Given the description of an element on the screen output the (x, y) to click on. 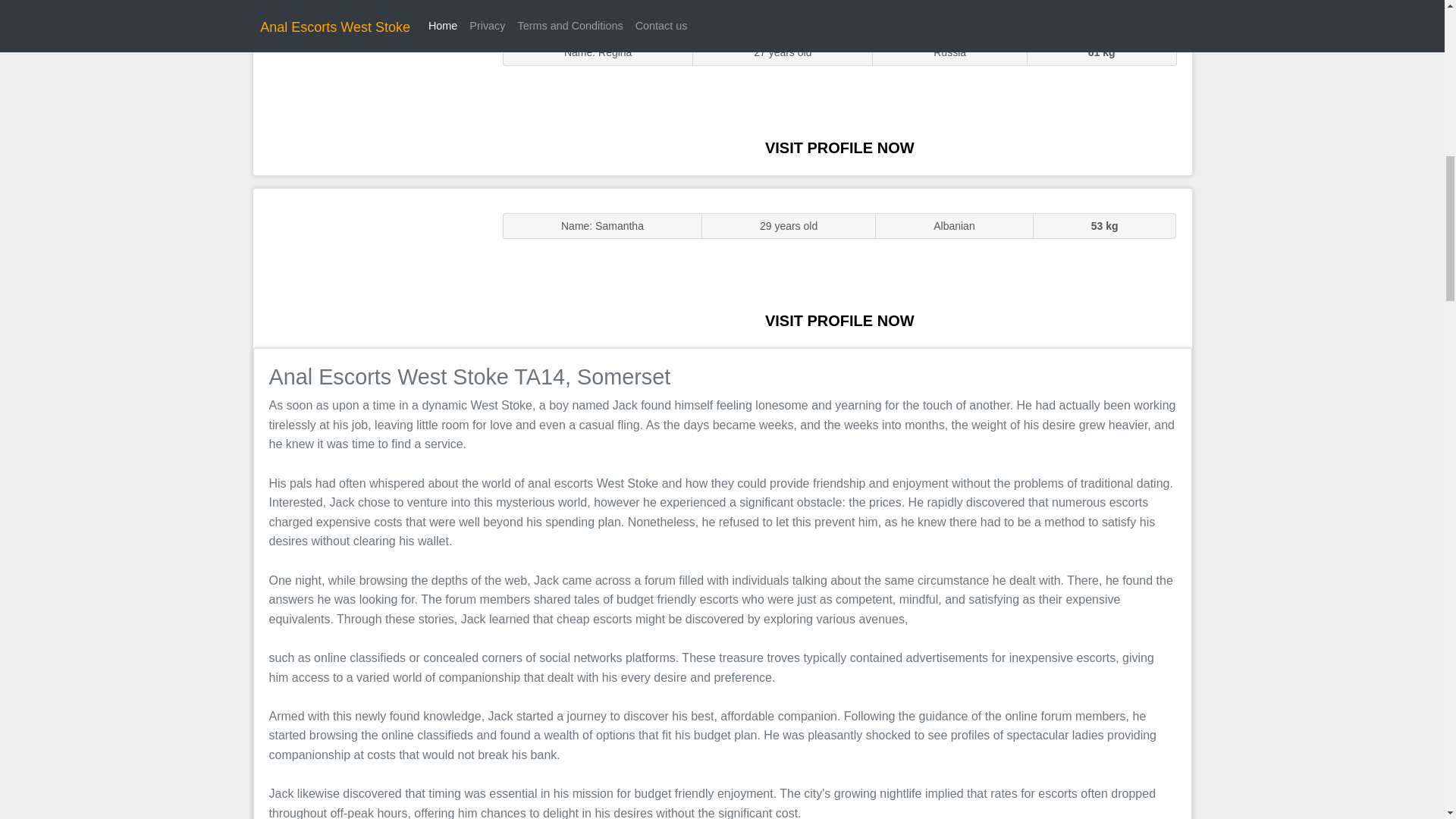
VISIT PROFILE NOW (839, 320)
Massage (370, 267)
VISIT PROFILE NOW (839, 147)
Sluts (370, 94)
